Given the description of an element on the screen output the (x, y) to click on. 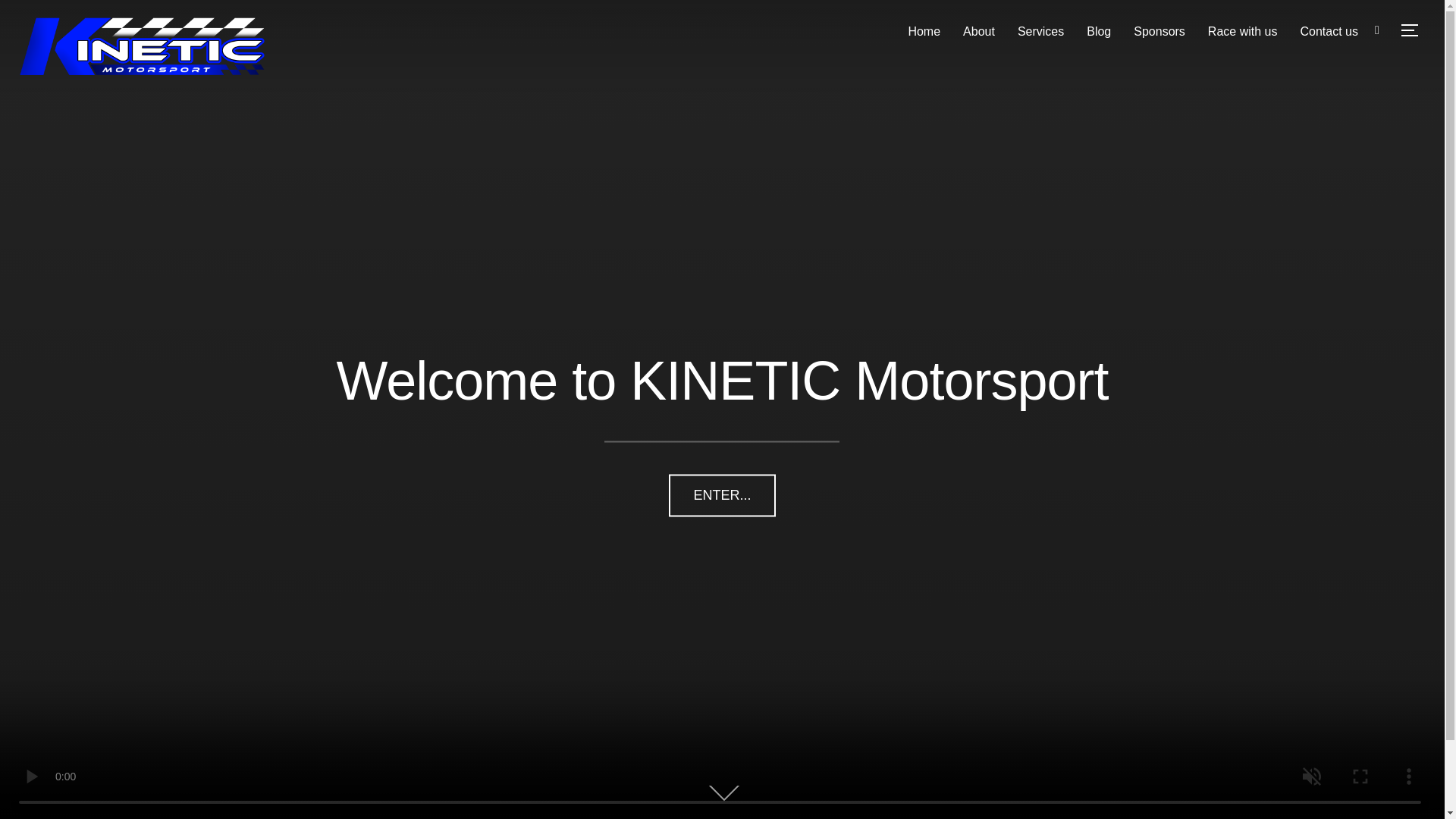
Home (923, 31)
Scroll to Content (727, 794)
Contact us (1328, 31)
Race with us (1243, 31)
Search (15, 15)
About (978, 31)
ENTER... (721, 495)
Sponsors (1159, 31)
Services (1040, 31)
